Given the description of an element on the screen output the (x, y) to click on. 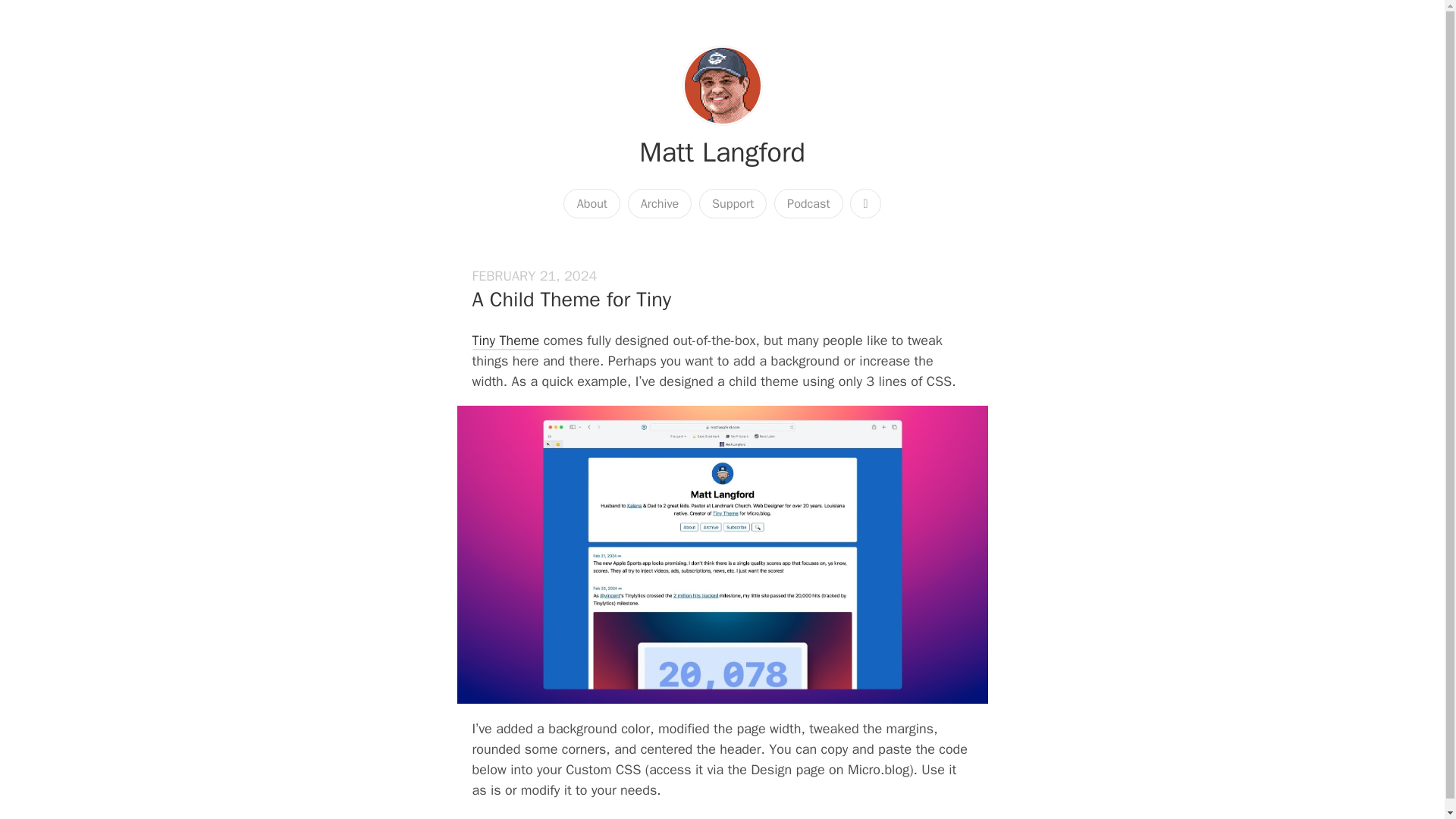
Tiny Theme (504, 341)
Podcast (808, 203)
Matt Langford (722, 152)
Support (732, 203)
Archive (660, 203)
About (591, 203)
